Given the description of an element on the screen output the (x, y) to click on. 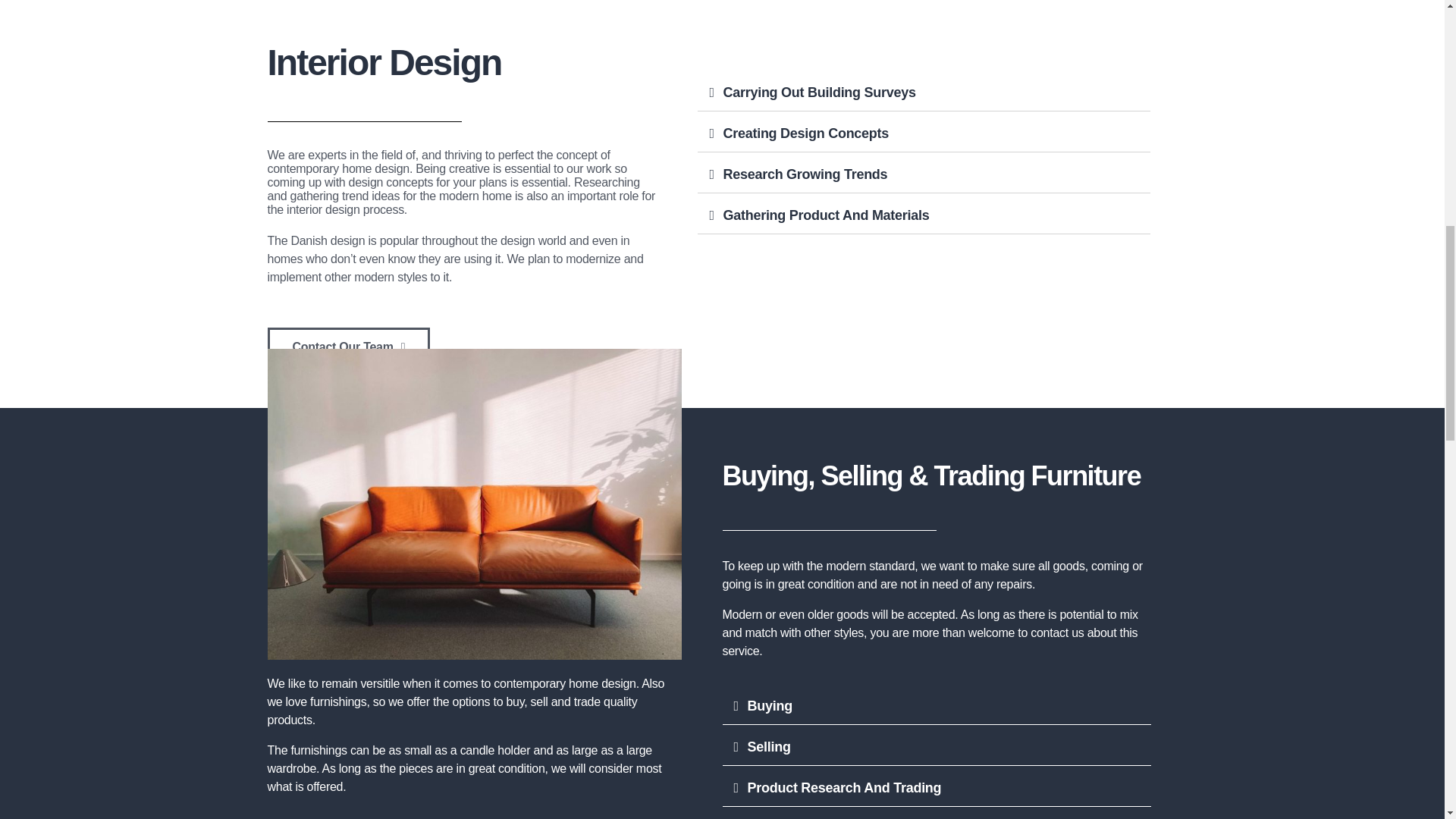
Buying (770, 705)
Contact Our Team (347, 346)
Selling (769, 746)
Research Growing Trends (804, 174)
Product Research And Trading (845, 787)
Gathering Product And Materials (825, 215)
Creating Design Concepts (805, 133)
Carrying Out Building Surveys (818, 92)
